Given the description of an element on the screen output the (x, y) to click on. 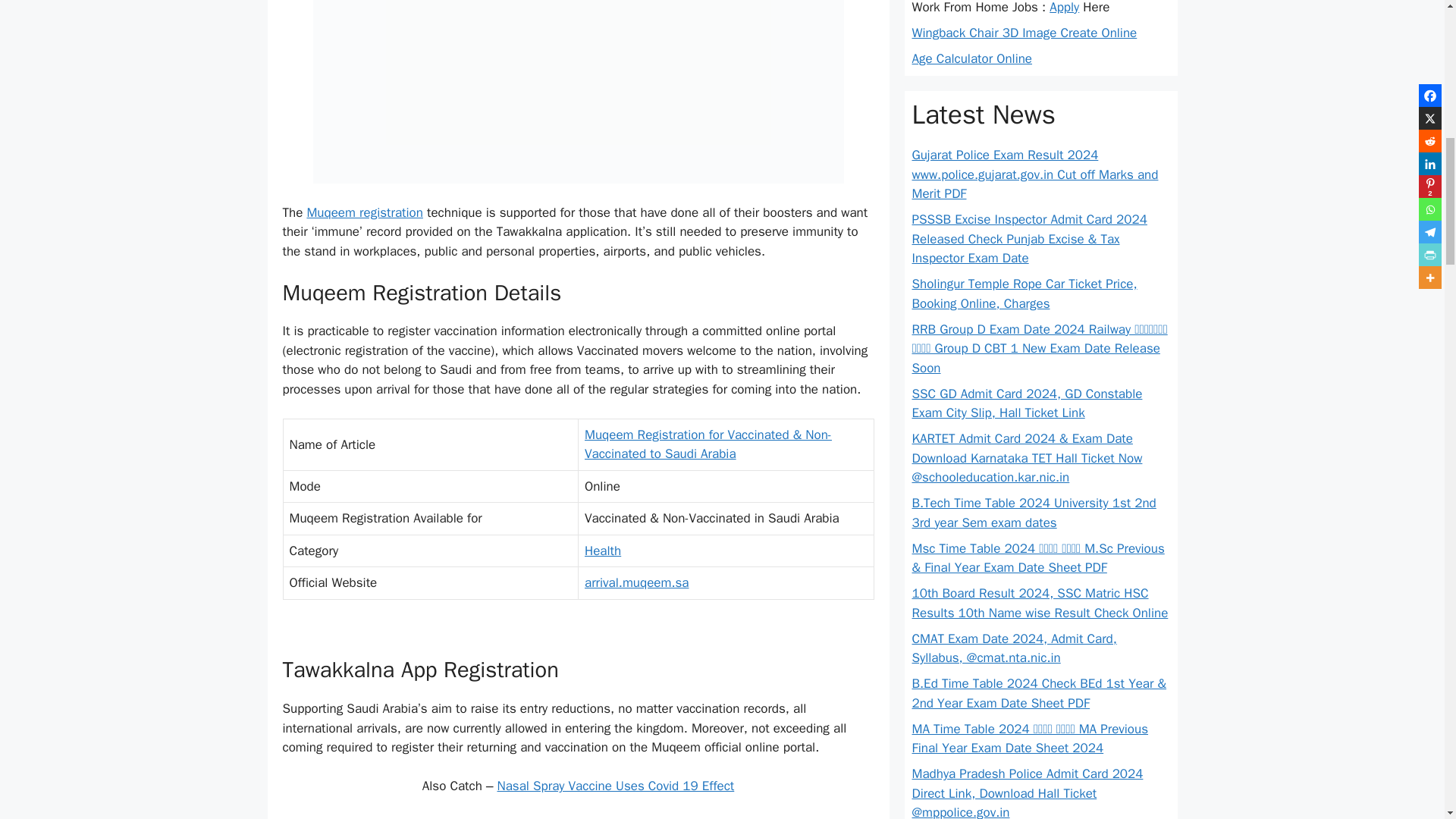
Health (603, 550)
Muqeem registration (363, 212)
Nasal Spray Vaccine Uses Covid 19 Effect (616, 785)
arrival.muqeem.sa (636, 582)
